Given the description of an element on the screen output the (x, y) to click on. 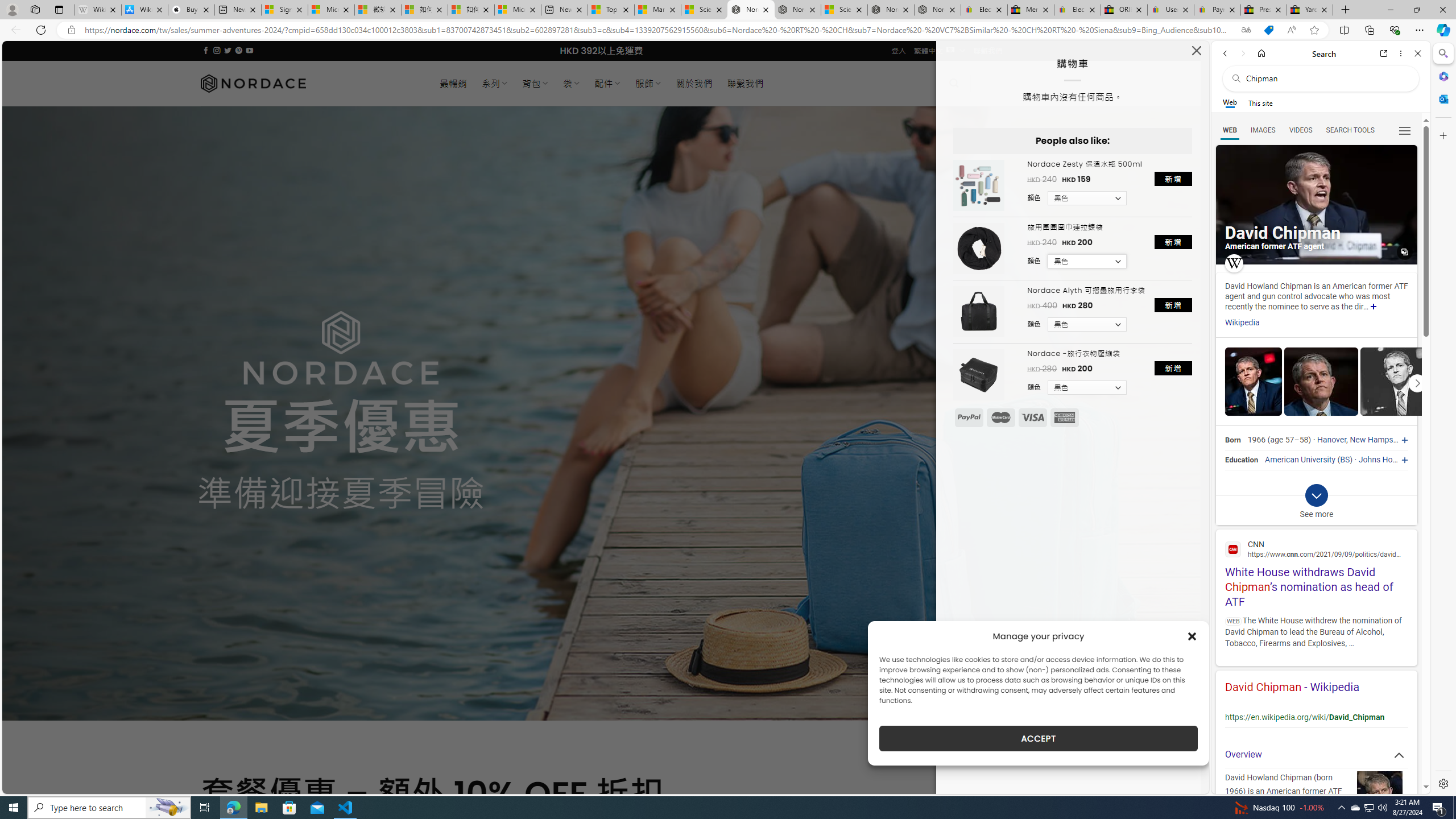
Outlook (1442, 98)
